Given the description of an element on the screen output the (x, y) to click on. 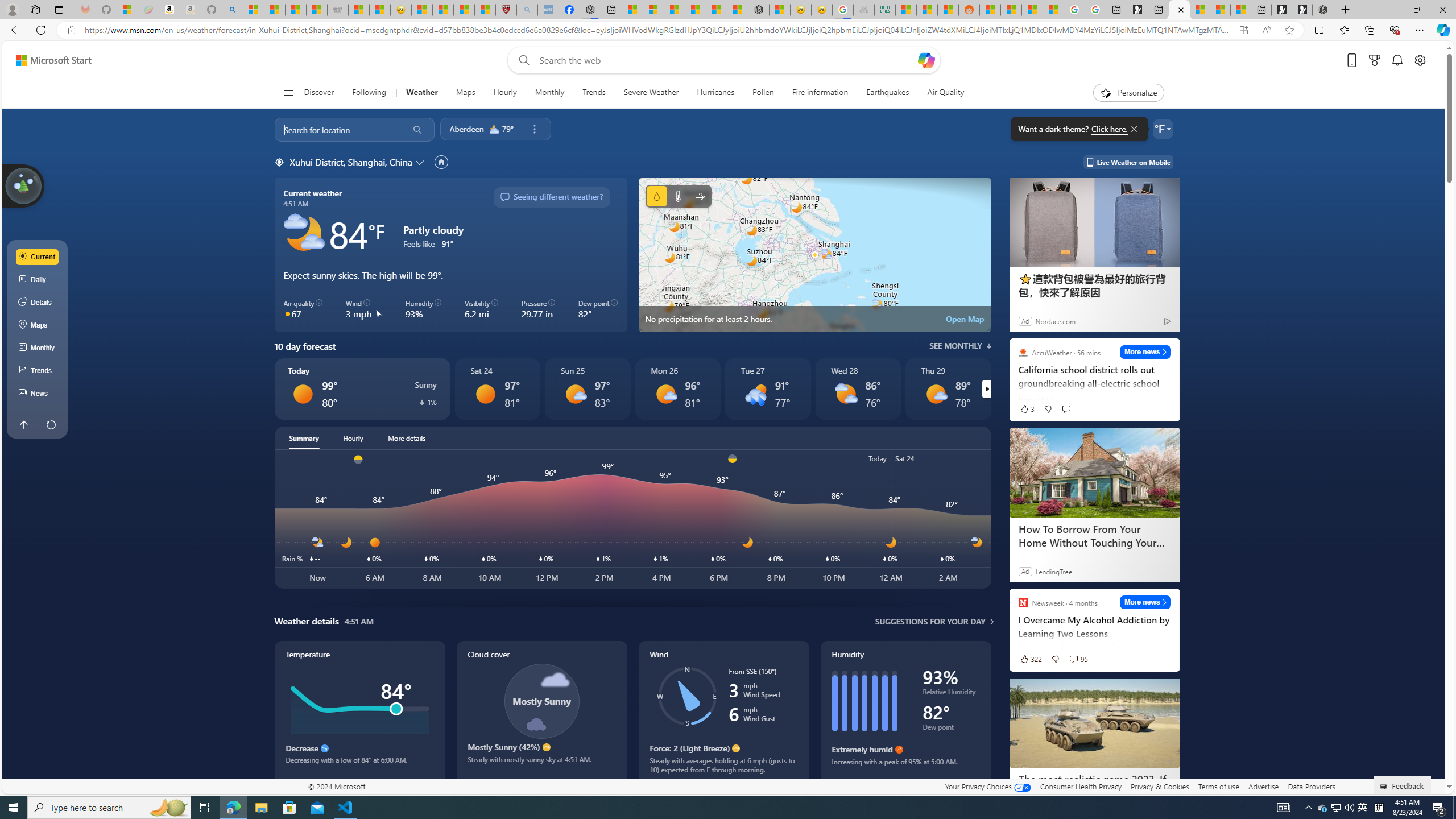
App available. Install Microsoft Start Weather (1243, 29)
These 3 Stocks Pay You More Than 5% to Own Them (1240, 9)
Consumer Health Privacy (1080, 786)
Weather (421, 92)
Microsoft Start (53, 60)
Humidity (905, 711)
Terms of use (1218, 785)
Notifications (1397, 60)
MSN (948, 9)
Remove location (534, 128)
